Given the description of an element on the screen output the (x, y) to click on. 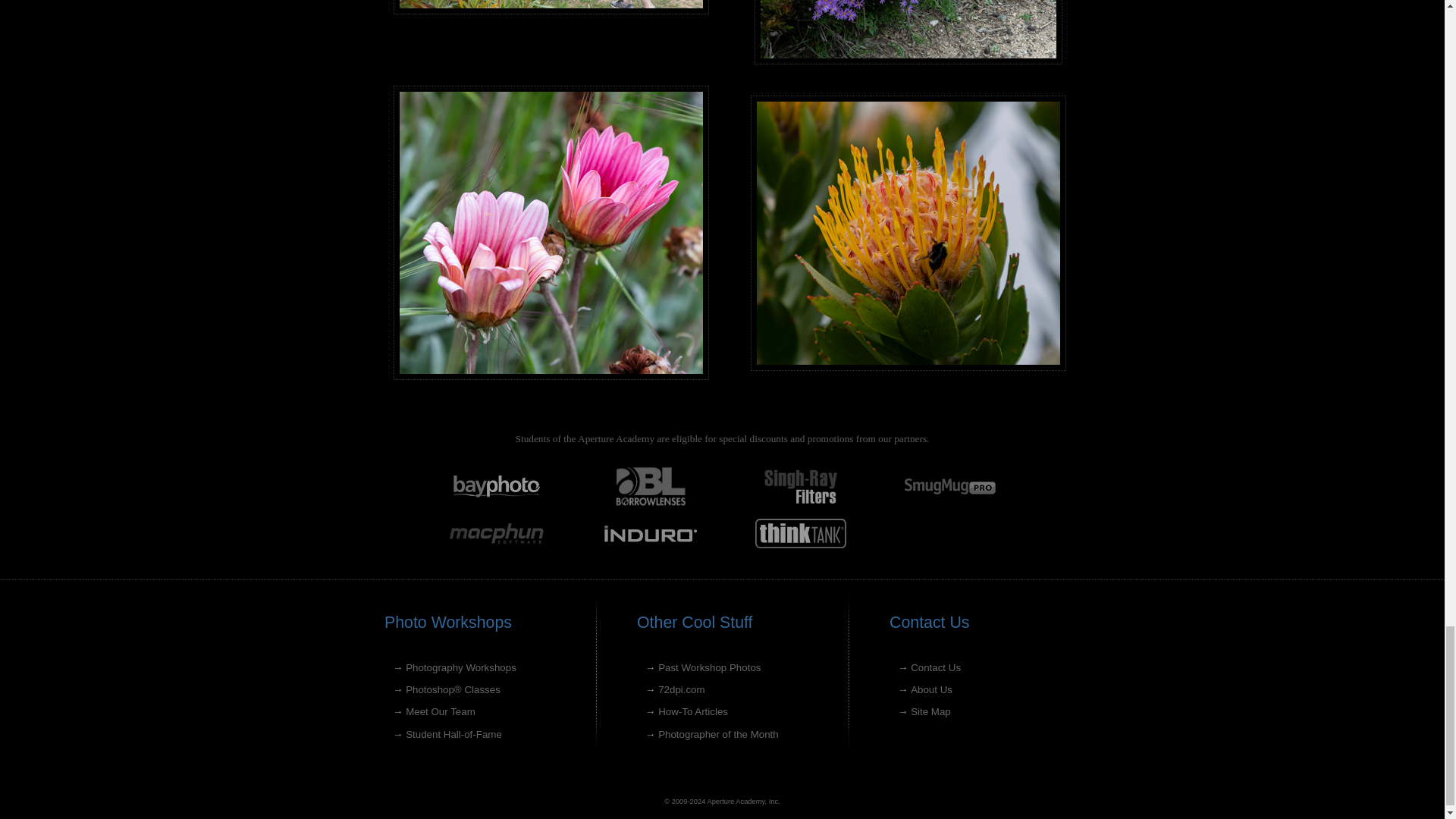
Photographer of the Month (718, 734)
About Us (931, 689)
Meet Our Team (441, 711)
How-To Articles (693, 711)
Past Workshop Photos (709, 667)
Photography Workshops (461, 667)
Student Hall-of-Fame (454, 734)
Site Map (930, 711)
Contact Us (935, 667)
72dpi.com (681, 689)
